Given the description of an element on the screen output the (x, y) to click on. 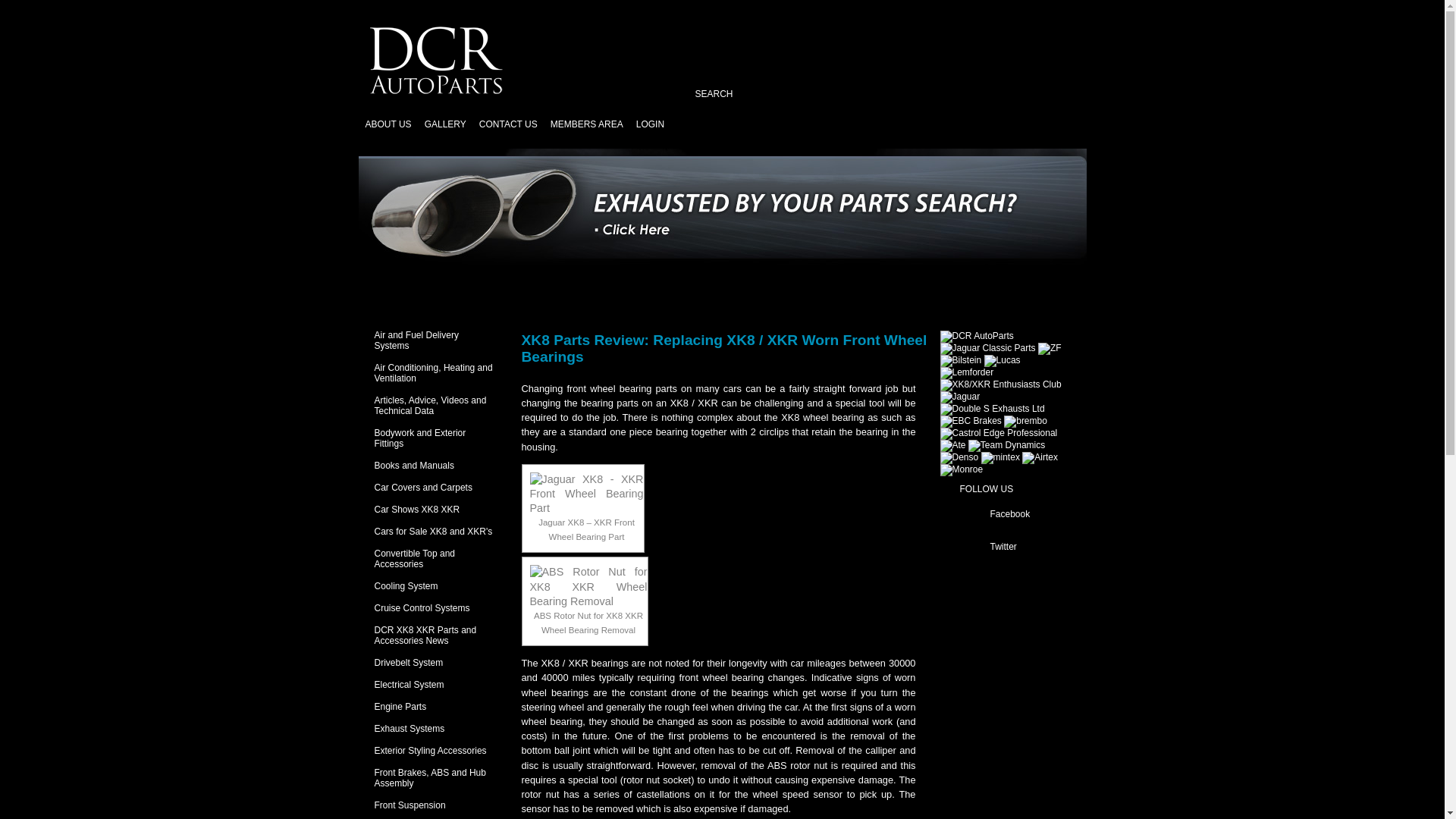
EBC Brakes (970, 421)
Front Suspension (409, 805)
Cruise Control Systems (422, 607)
ZF (1049, 348)
ABS Rotor Nut for XK8 XKR Wheel Bearing Removal (587, 587)
Bodywork and Exterior Fittings (419, 437)
Team Dynamics (1006, 445)
XK8 XKR Front Wheel Bearing Part (586, 494)
Search (695, 109)
MEMBERS AREA (586, 123)
Bilstein (960, 360)
Convertible Top and Accessories (414, 558)
DCR AutoParts (976, 336)
Car Covers and Carpets (422, 487)
Front Brakes, ABS and Hub Assembly (430, 777)
